Given the description of an element on the screen output the (x, y) to click on. 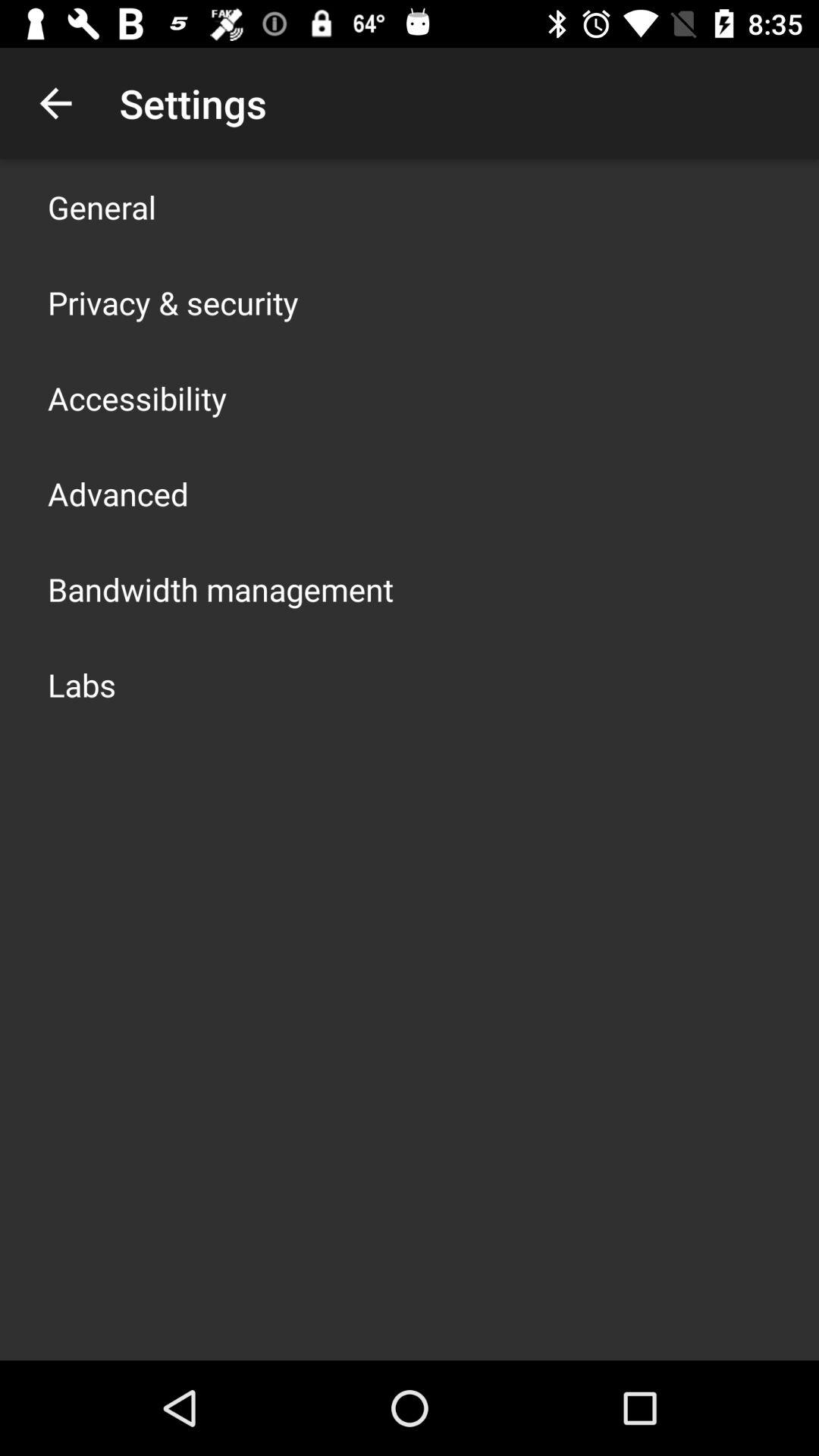
press item next to the settings item (55, 103)
